Given the description of an element on the screen output the (x, y) to click on. 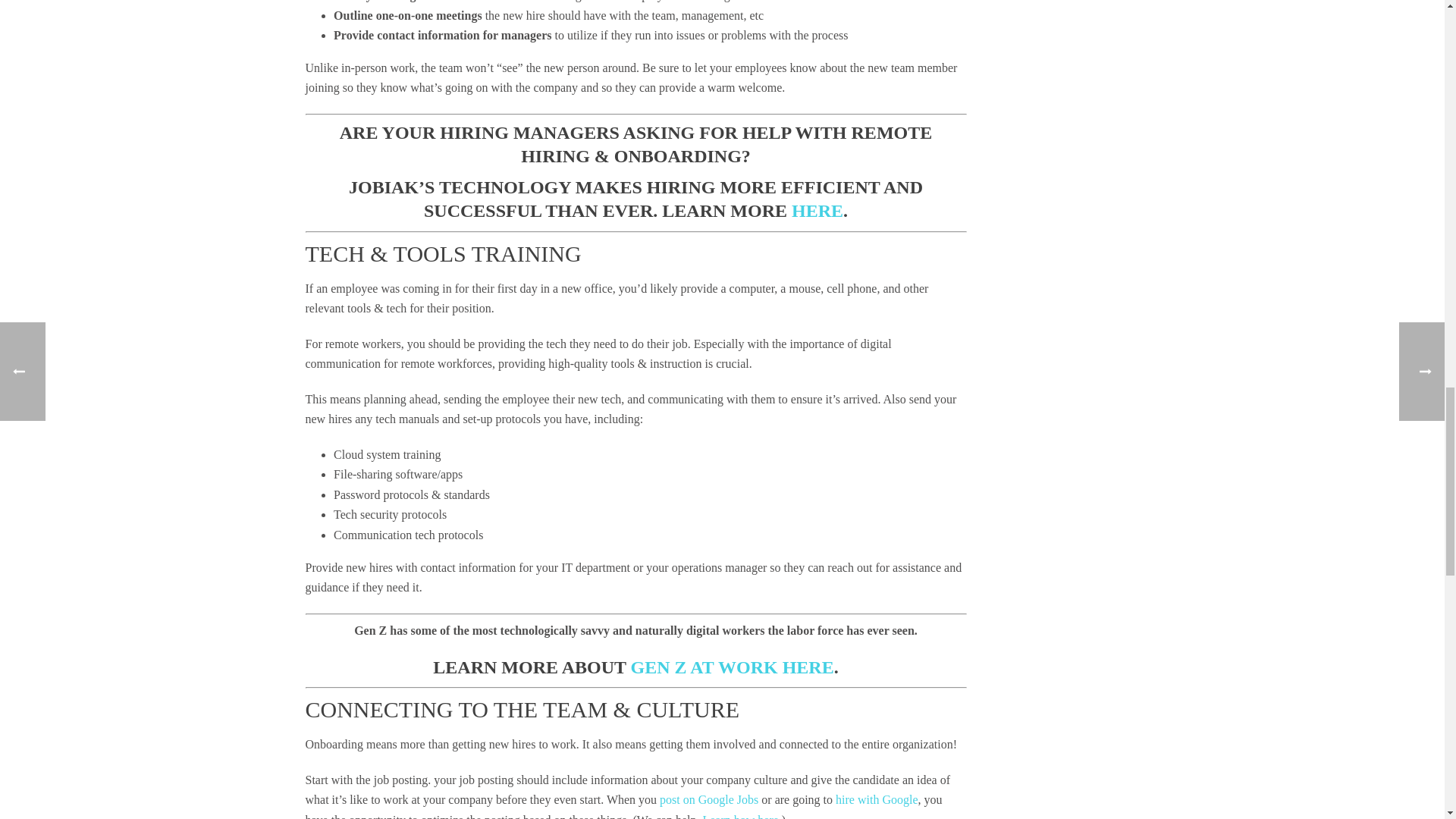
Learn how here (739, 816)
GEN Z AT WORK HERE (732, 667)
hire with Google (876, 799)
HERE (817, 210)
post on Google Jobs (708, 799)
